Given the description of an element on the screen output the (x, y) to click on. 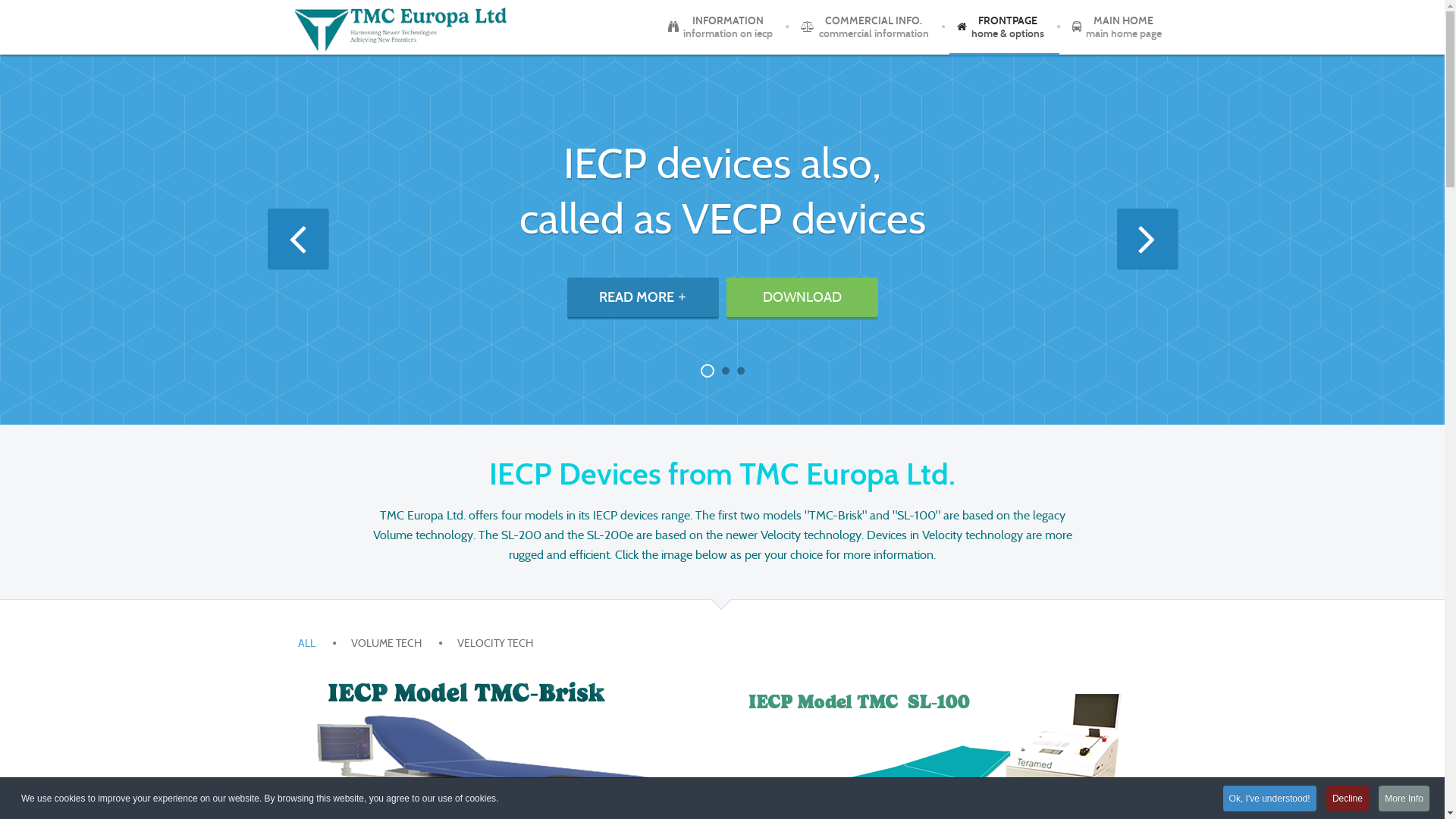
Decline Element type: text (1347, 798)
DOWNLOAD Element type: text (802, 297)
READ MORE Element type: text (642, 297)
FRONTPAGE
home & options Element type: text (999, 27)
MAIN HOME
main home page Element type: text (1116, 27)
More Info Element type: text (1403, 798)
Ok, I've understood! Element type: text (1269, 798)
